Given the description of an element on the screen output the (x, y) to click on. 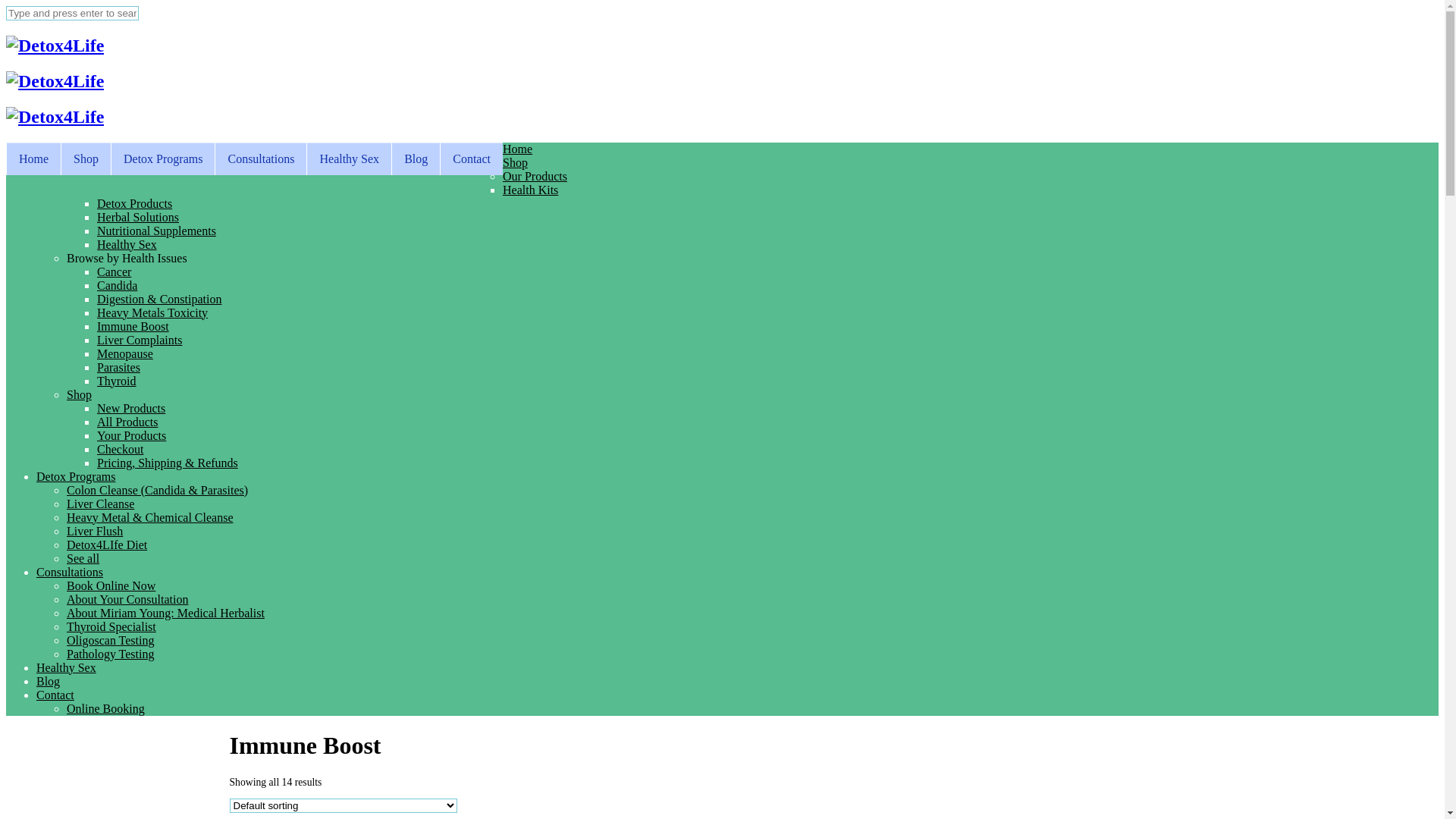
Immune Boost Element type: text (133, 326)
All Products Element type: text (127, 421)
Thyroid Specialist Element type: text (111, 626)
Colon Cleanse (Candida & Parasites) Element type: text (156, 489)
Heavy Metal & Chemical Cleanse Element type: text (149, 517)
Home Element type: text (517, 148)
Pricing, Shipping & Refunds Element type: text (167, 462)
Nutritional Supplements Element type: text (156, 230)
Thyroid Element type: text (116, 380)
Cancer Element type: text (114, 271)
Online Booking Element type: text (105, 708)
Pathology Testing Element type: text (109, 653)
Oligoscan Testing Element type: text (109, 639)
Our Products Element type: text (534, 175)
Digestion & Constipation Element type: text (159, 298)
Liver Cleanse Element type: text (100, 503)
Candida Element type: text (117, 285)
Book Online Now Element type: text (110, 585)
Shop Element type: text (514, 162)
Consultations Element type: text (260, 158)
Detox Programs Element type: text (75, 476)
About Miriam Young: Medical Herbalist Element type: text (165, 612)
Healthy Sex Element type: text (348, 158)
Home Element type: text (33, 158)
Your Products Element type: text (131, 435)
Detox Programs Element type: text (162, 158)
Contact Element type: text (55, 694)
Detox4LIfe Diet Element type: text (106, 544)
Shop Element type: text (78, 394)
Health Kits Element type: text (530, 189)
Liver Flush Element type: text (94, 530)
Checkout Element type: text (120, 448)
Healthy Sex Element type: text (126, 244)
Herbal Solutions Element type: text (137, 216)
Liver Complaints Element type: text (139, 339)
Consultations Element type: text (69, 571)
See all Element type: text (82, 558)
Heavy Metals Toxicity Element type: text (152, 312)
Blog Element type: text (47, 680)
Menopause Element type: text (125, 353)
Healthy Sex Element type: text (66, 667)
About Your Consultation Element type: text (127, 599)
Shop Element type: text (85, 158)
Detox Products Element type: text (134, 203)
New Products Element type: text (131, 407)
Parasites Element type: text (118, 366)
Contact Element type: text (470, 158)
Blog Element type: text (415, 158)
Browse by Health Issues   Element type: text (129, 257)
